Given the description of an element on the screen output the (x, y) to click on. 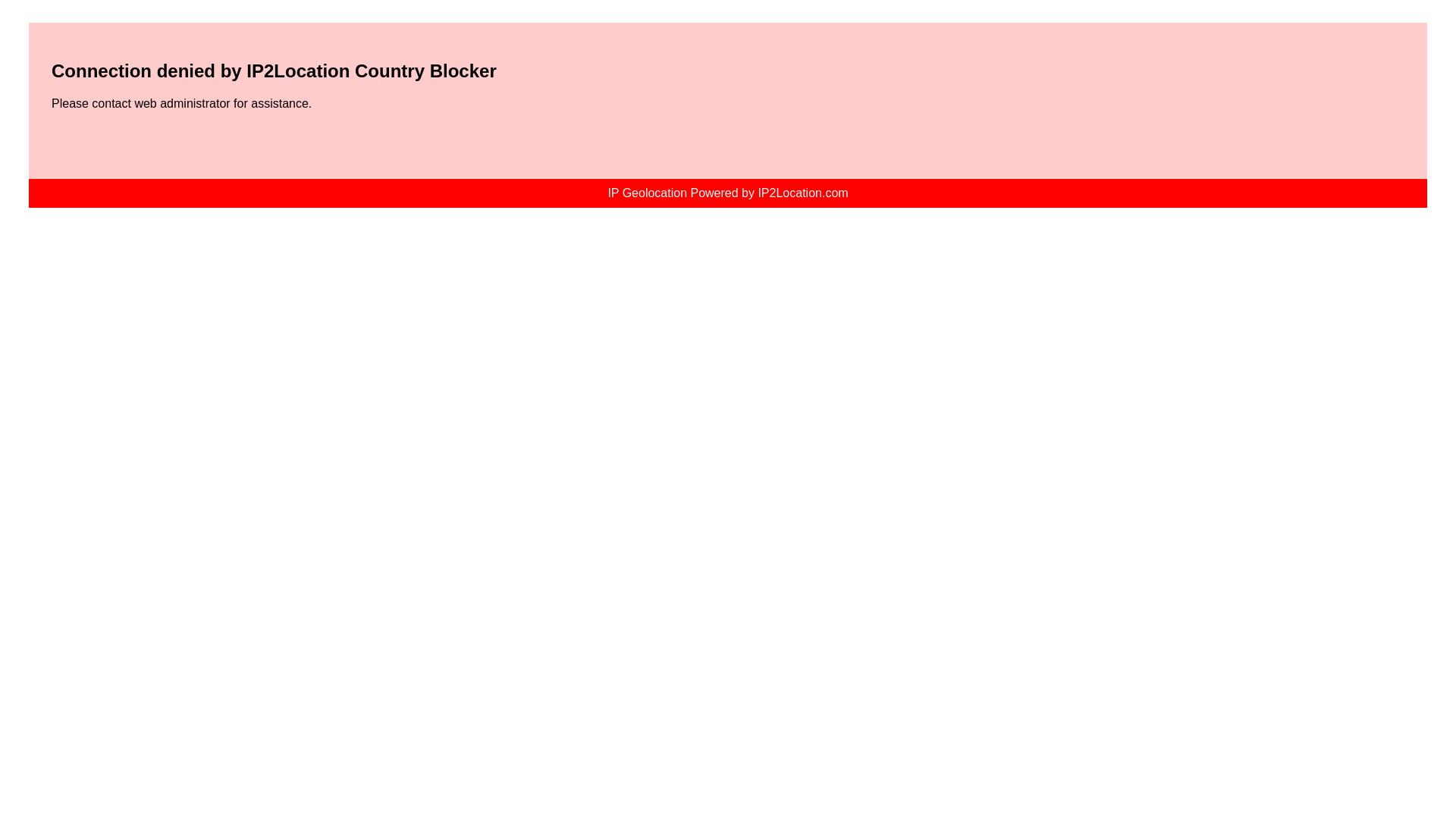
IP Geolocation Powered by IP2Location.com (727, 192)
